Given the description of an element on the screen output the (x, y) to click on. 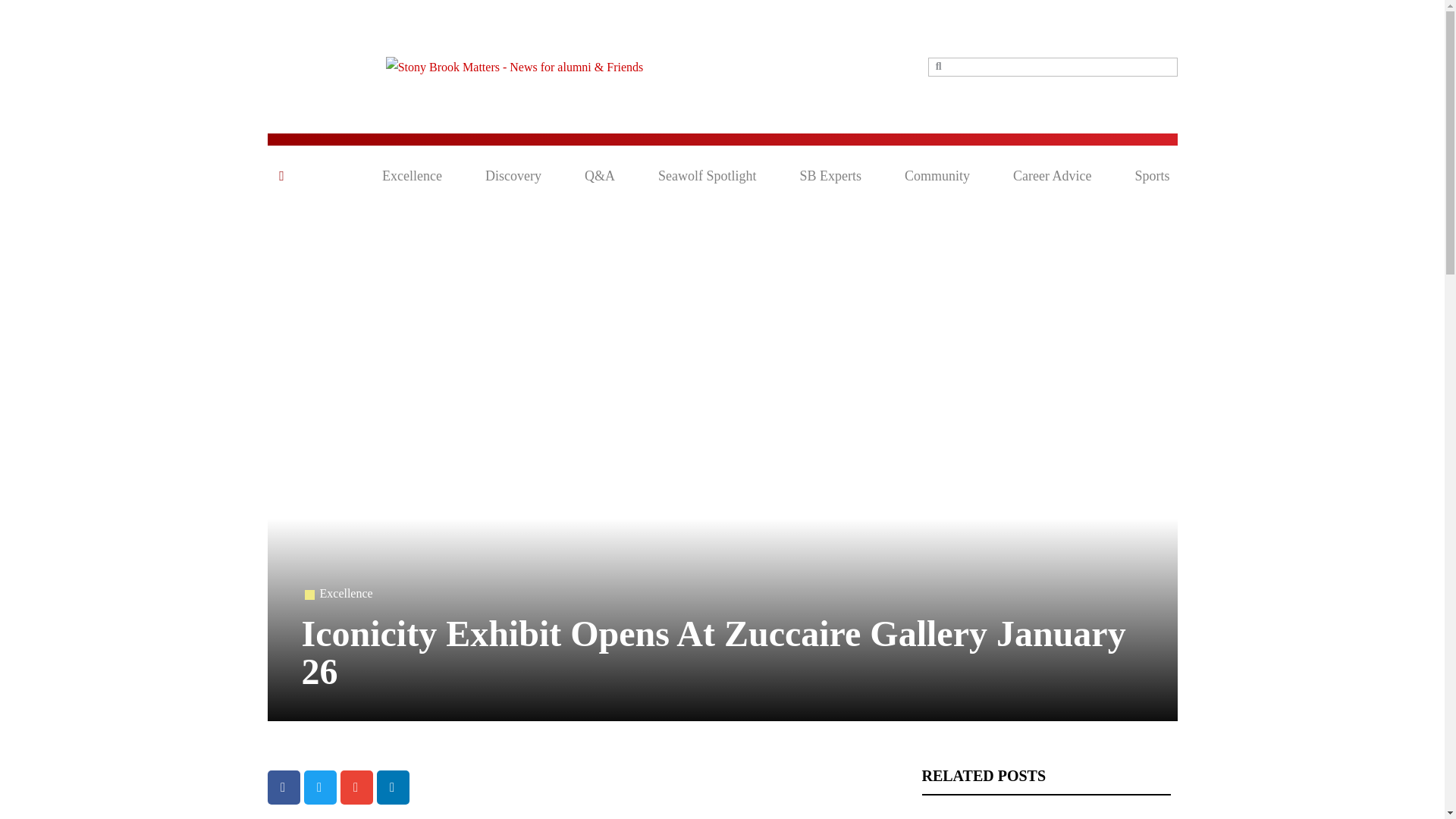
Community (936, 175)
Sports (1151, 175)
Seawolf Spotlight (707, 175)
Excellence (346, 593)
Discovery (512, 175)
SB Experts (830, 175)
Excellence (411, 175)
Career Advice (1051, 175)
